Given the description of an element on the screen output the (x, y) to click on. 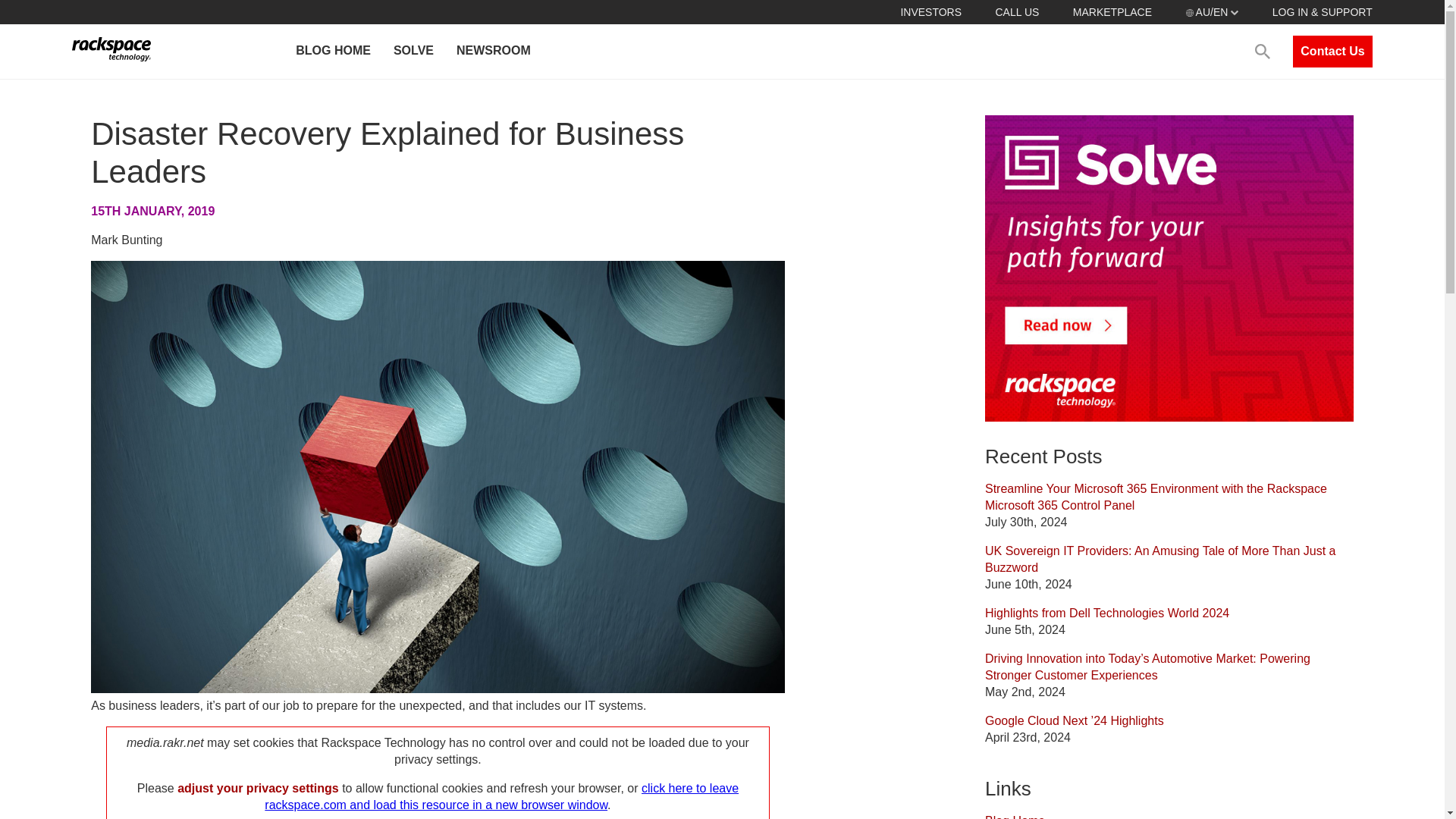
Highlights from Dell Technologies World 2024 (1106, 612)
Blog Home (1015, 816)
adjust your privacy settings (258, 788)
SOLVE (413, 51)
INVESTORS (929, 11)
BLOG HOME (332, 51)
MARKETPLACE (1112, 11)
Contact Us (1331, 51)
NEWSROOM (493, 51)
CALL US (1016, 11)
